Given the description of an element on the screen output the (x, y) to click on. 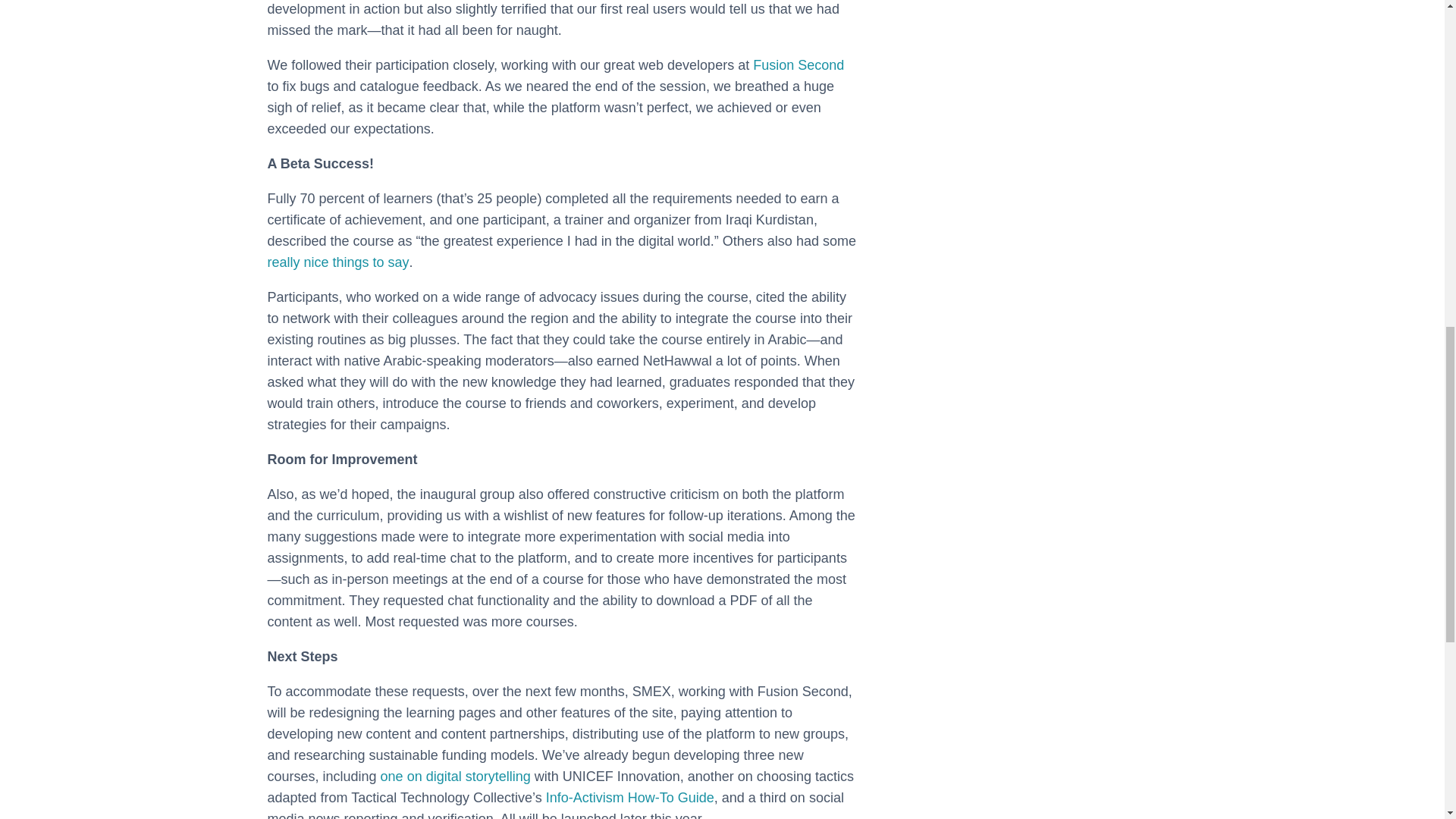
really nice things to say (337, 262)
one on digital storytelling (455, 776)
Info-Activism How-To Guide (630, 797)
Fusion Second (798, 64)
